Given the description of an element on the screen output the (x, y) to click on. 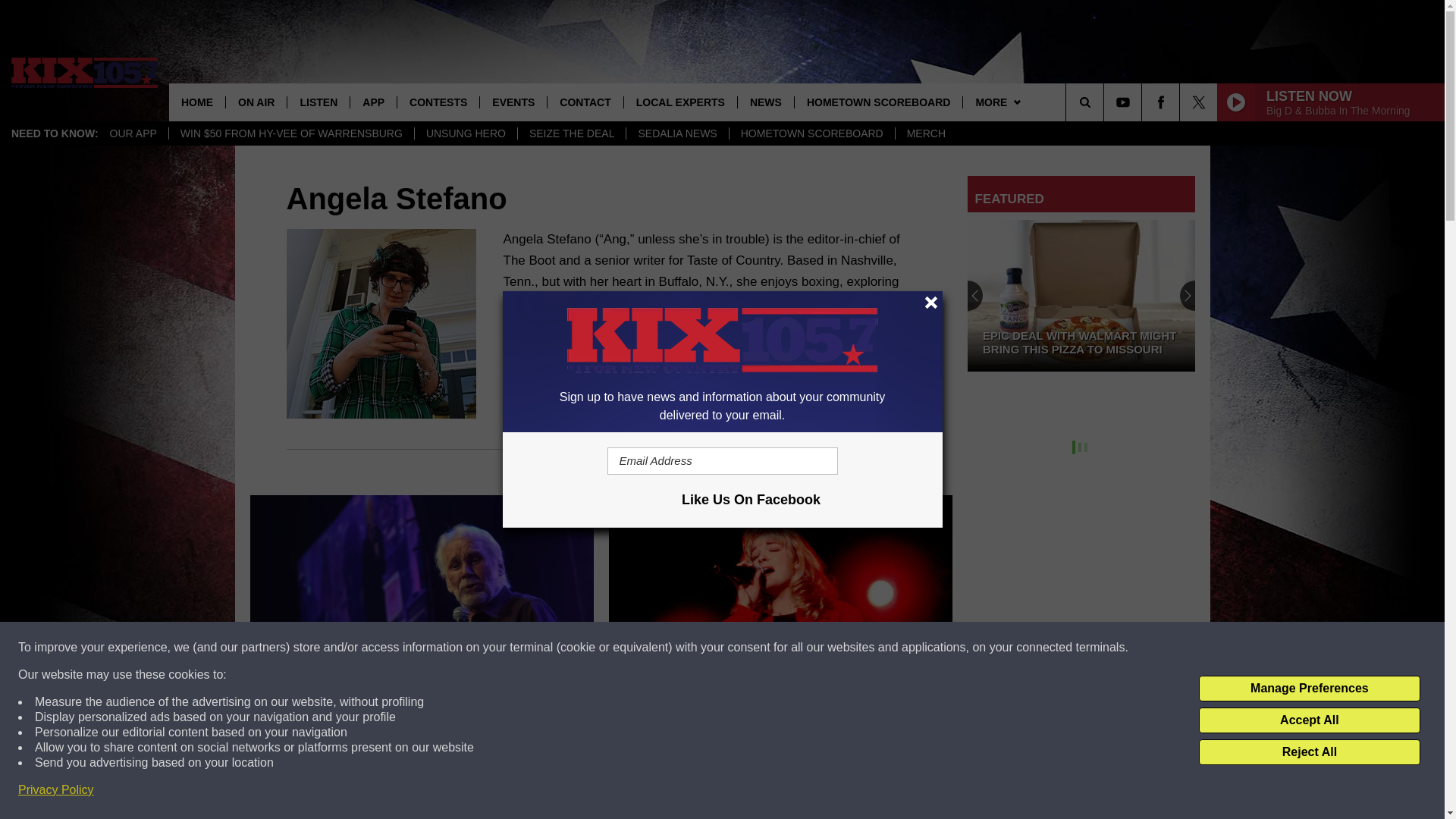
MERCH (925, 133)
Manage Preferences (1309, 688)
LISTEN (317, 102)
Email Address (722, 461)
ON AIR (255, 102)
SEDALIA NEWS (677, 133)
CONTESTS (437, 102)
APP (372, 102)
SEIZE THE DEAL (571, 133)
Reject All (1309, 751)
OUR APP (133, 133)
HOME (196, 102)
Accept All (1309, 720)
SEARCH (1106, 102)
Privacy Policy (55, 789)
